Given the description of an element on the screen output the (x, y) to click on. 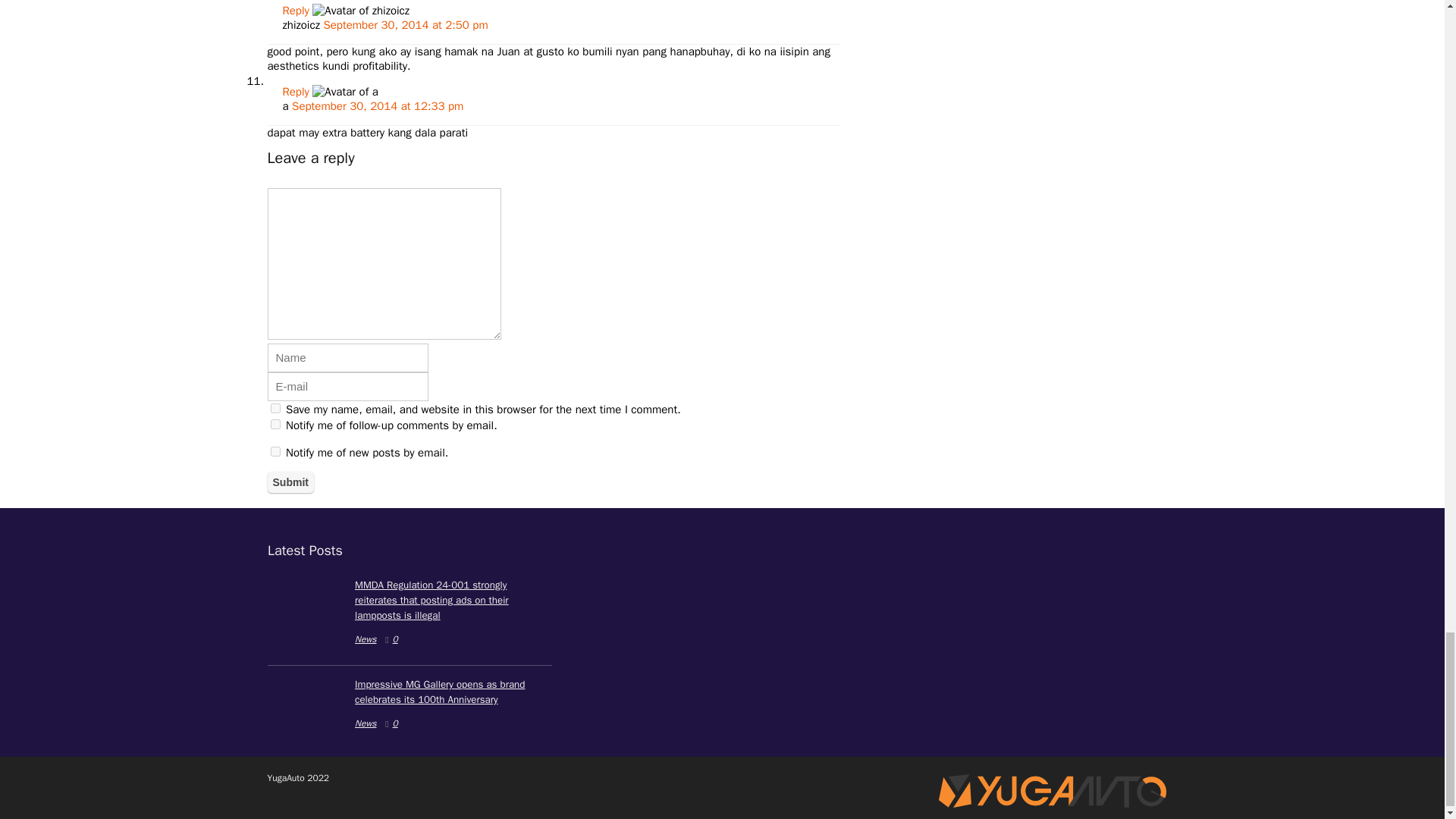
subscribe (274, 451)
Submit (289, 482)
subscribe (274, 424)
yes (274, 408)
